Given the description of an element on the screen output the (x, y) to click on. 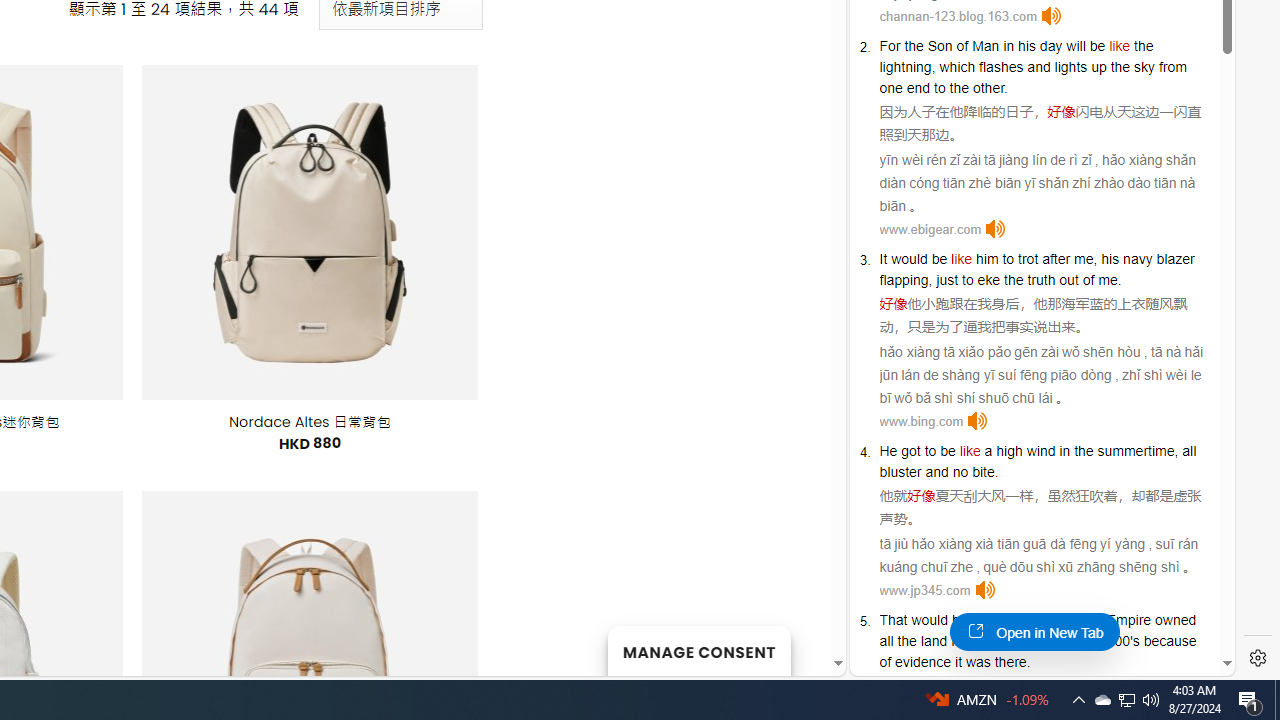
would (929, 619)
because (1169, 640)
just (946, 280)
saying (1015, 619)
it (958, 661)
Man (985, 46)
